Given the description of an element on the screen output the (x, y) to click on. 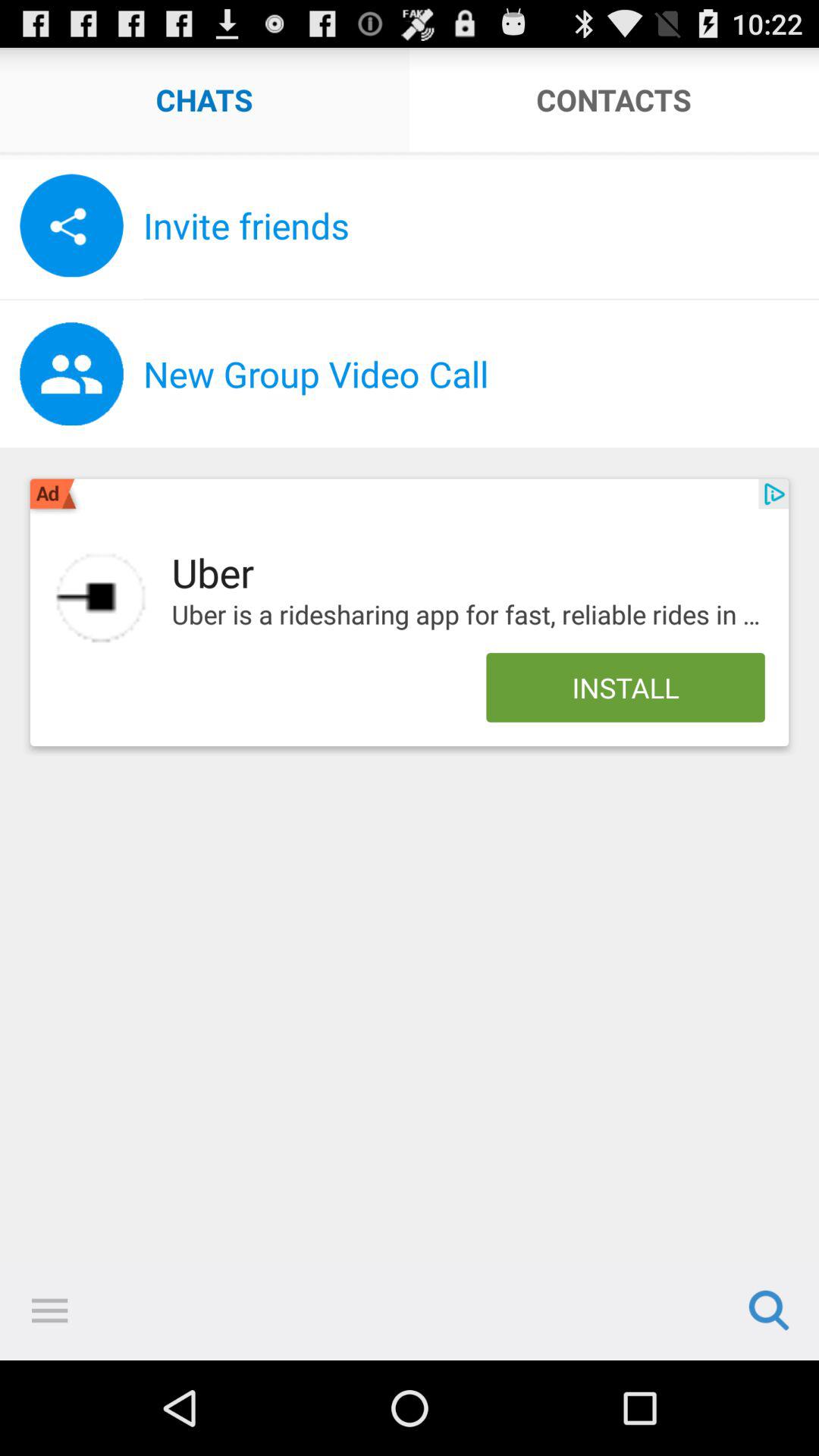
press the icon at the center (467, 615)
